Given the description of an element on the screen output the (x, y) to click on. 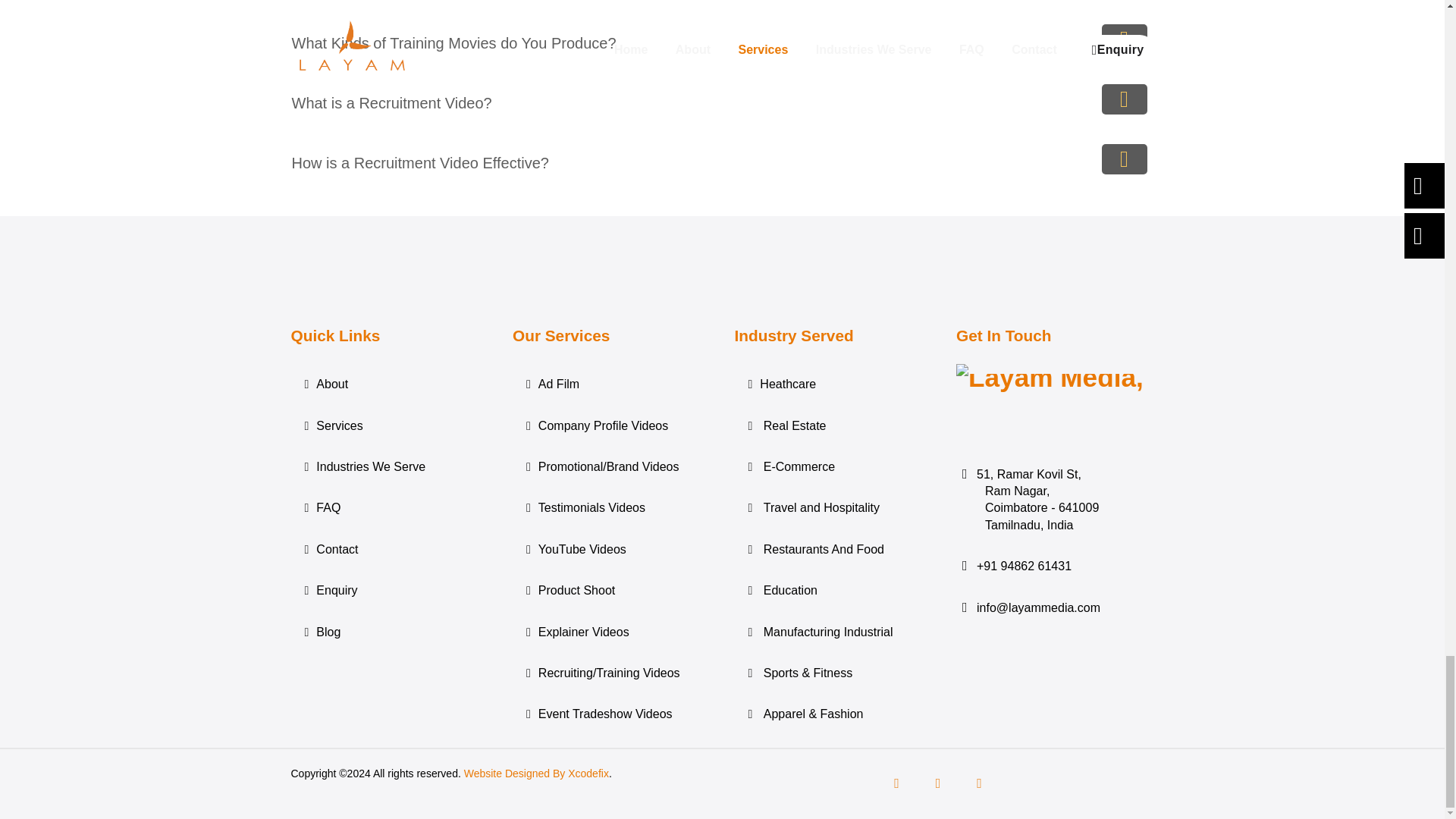
Explainer Videos (611, 632)
What is a Recruitment Video? (722, 103)
How is a Recruitment Video Effective? (722, 162)
FAQ (390, 507)
YouTube Videos (611, 549)
Testimonials Videos (611, 507)
Company Profile Videos (611, 425)
Travel and Hospitality (832, 507)
Event Tradeshow Videos (611, 714)
Blog (390, 632)
Industries We Serve (390, 466)
